Given the description of an element on the screen output the (x, y) to click on. 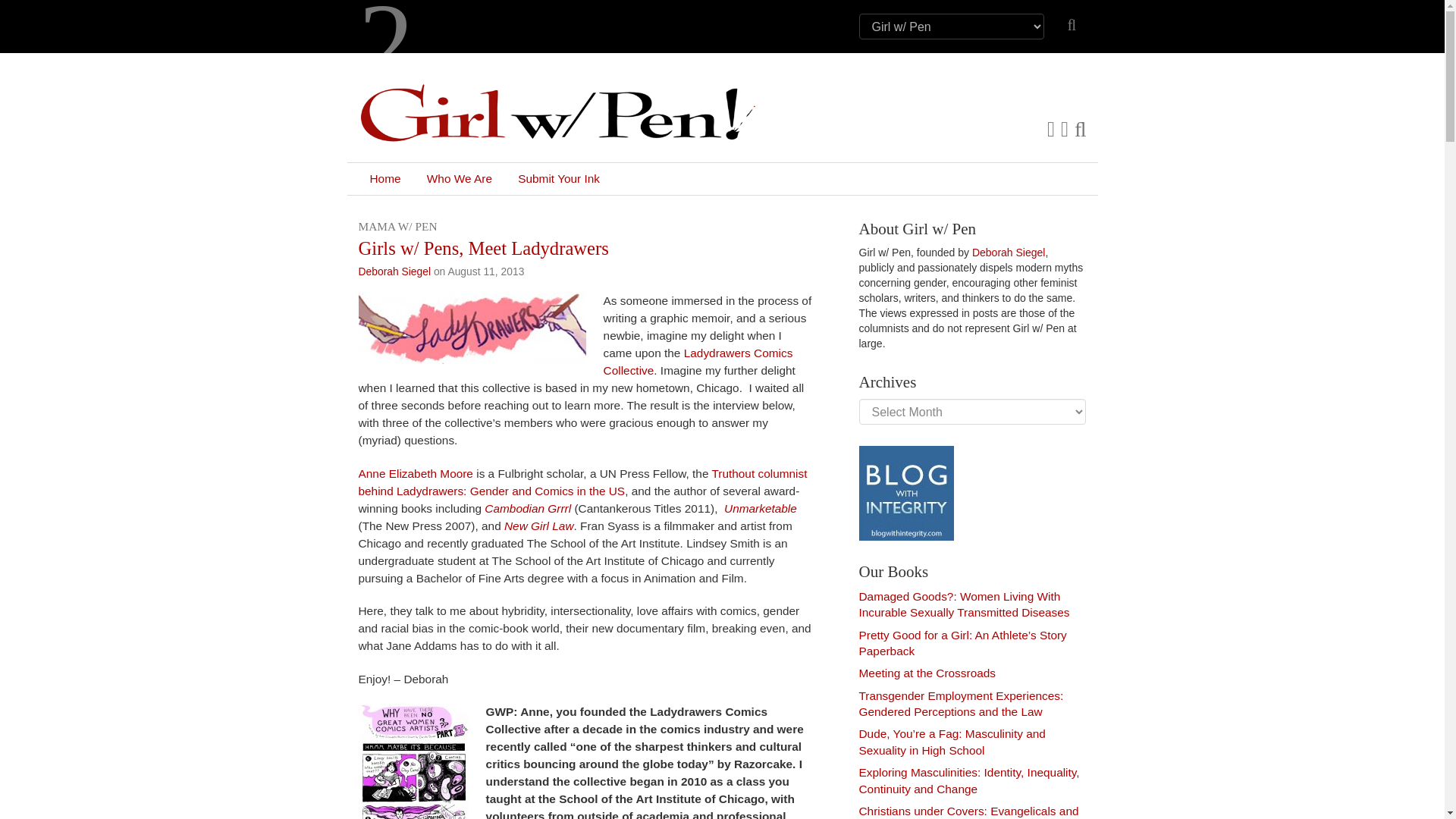
Anne Elizabeth Moore (414, 472)
Submit Your Ink (558, 178)
Unmarketable (759, 508)
Who We Are (458, 178)
Home (385, 178)
Cambodian Grrrl (528, 508)
Deborah Siegel (394, 271)
New Girl Law (538, 525)
Ladydrawers Comics Collective (698, 361)
Submit Your Ink (558, 178)
Home (385, 178)
Twitter (1050, 128)
RSS Feed (1064, 128)
Who We Are (458, 178)
